Given the description of an element on the screen output the (x, y) to click on. 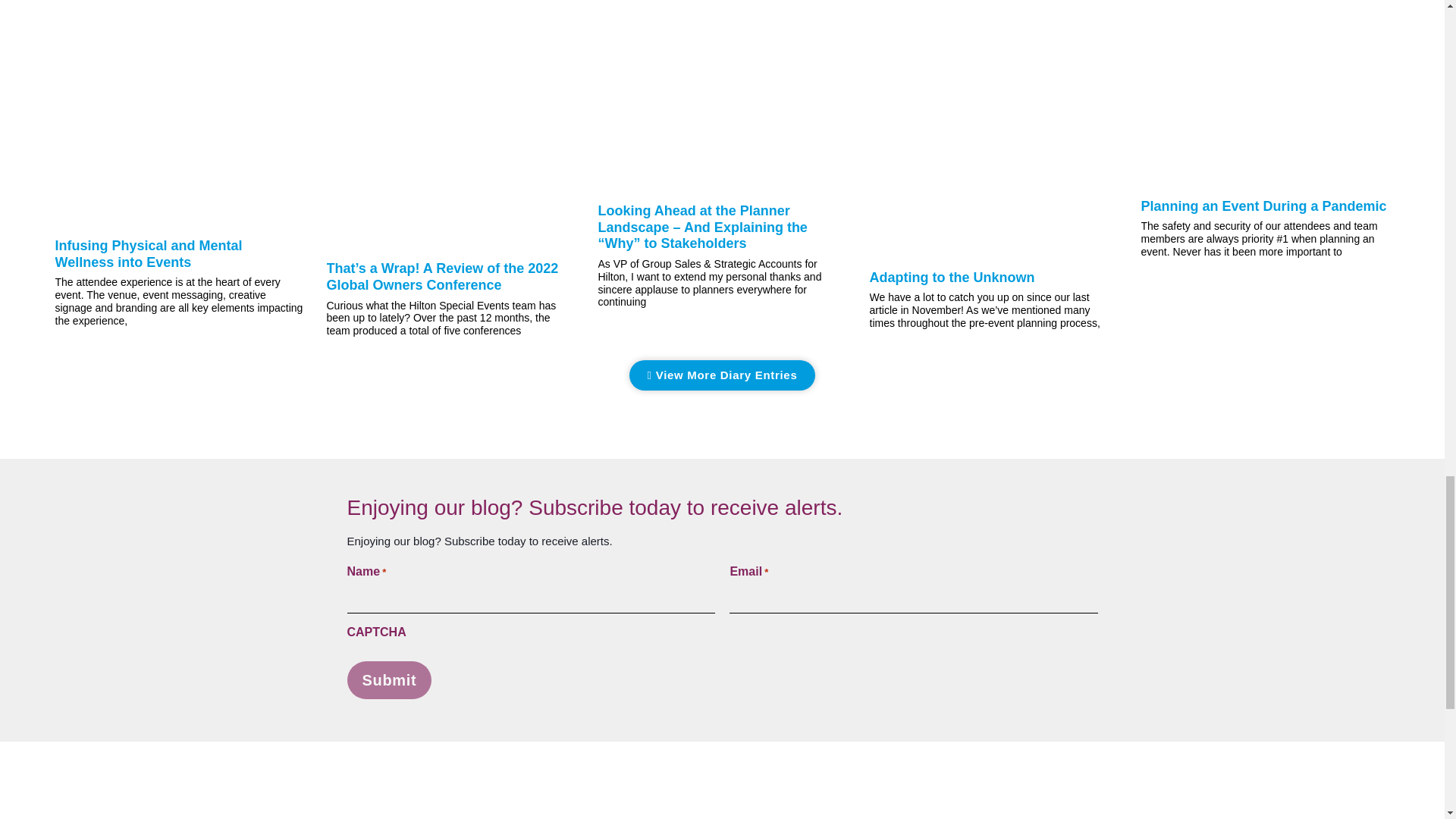
Infusing Physical and Mental Wellness into Events (148, 254)
Submit (389, 679)
